Given the description of an element on the screen output the (x, y) to click on. 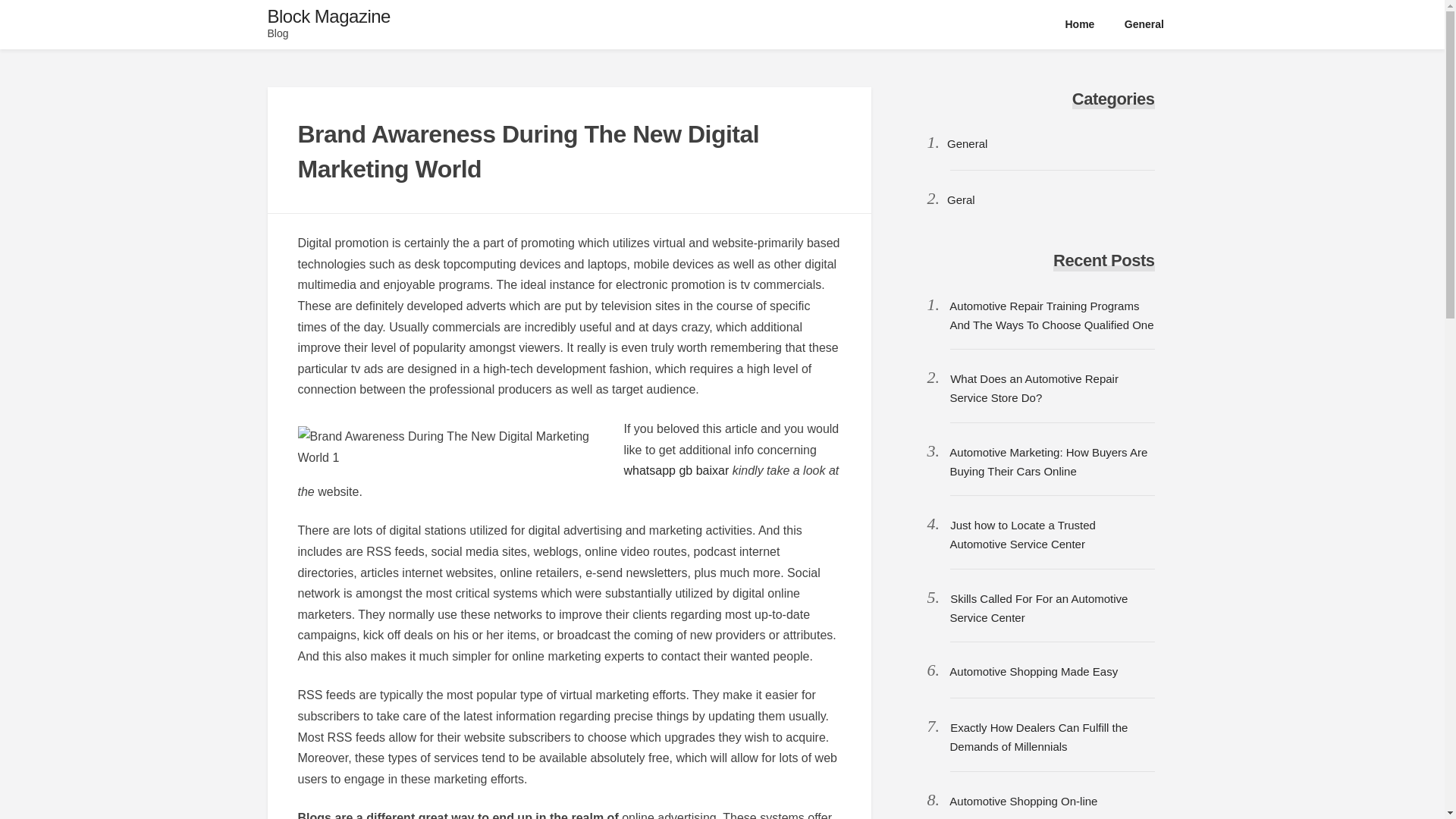
What Does an Automotive Repair Service Store Do? (1033, 388)
Skills Called For For an Automotive Service Center (1037, 608)
Automotive Shopping On-line (1023, 800)
General (1143, 24)
General (967, 143)
Just how to Locate a Trusted Automotive Service Center (1021, 534)
Geral (961, 199)
Exactly How Dealers Can Fulfill the Demands of Millennials (1037, 736)
Block Magazine (328, 15)
whatsapp gb baixar (676, 470)
Home (1079, 24)
Automotive Shopping Made Easy (1033, 671)
